Given the description of an element on the screen output the (x, y) to click on. 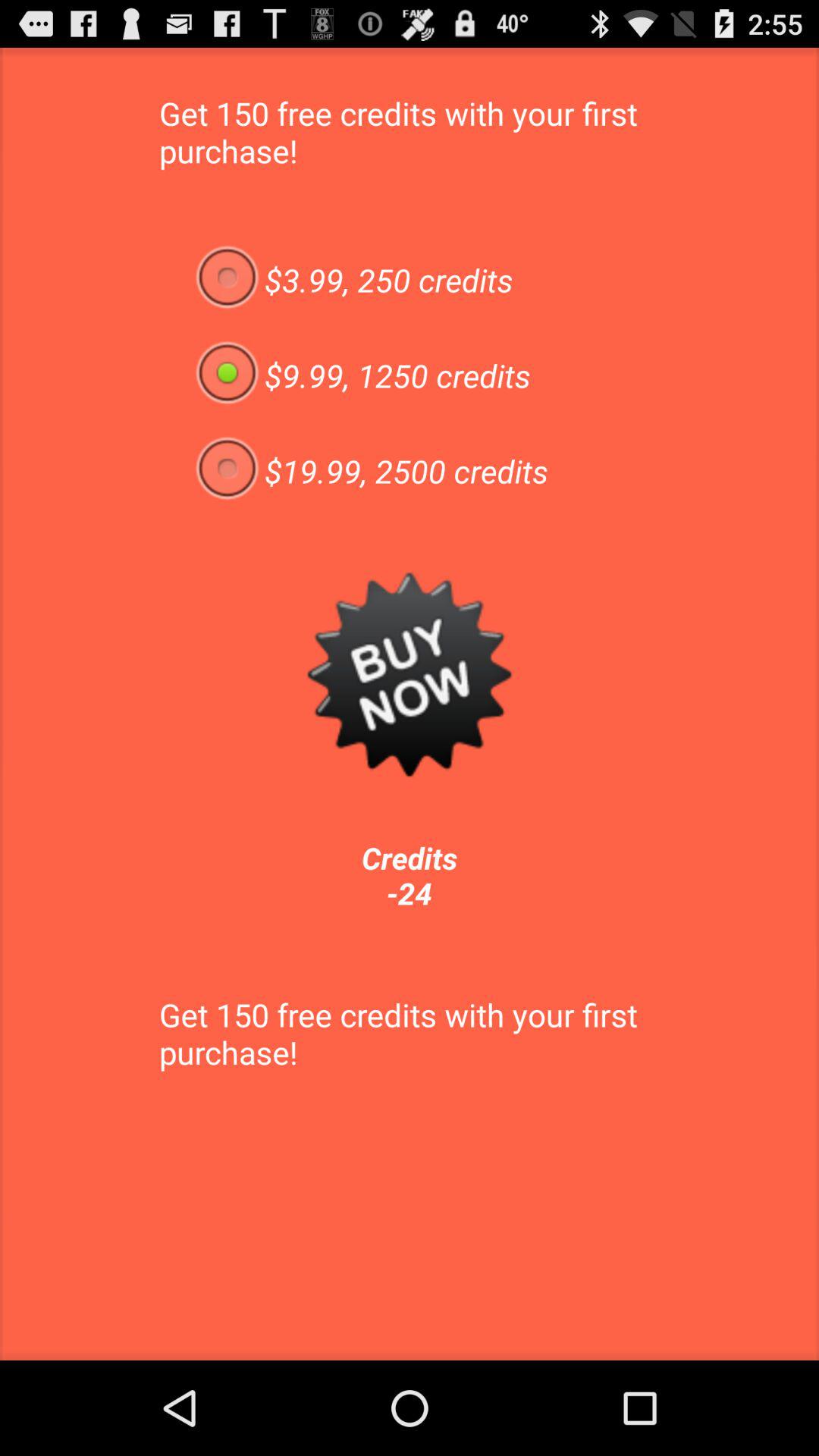
press app above credits
-24 item (409, 674)
